Given the description of an element on the screen output the (x, y) to click on. 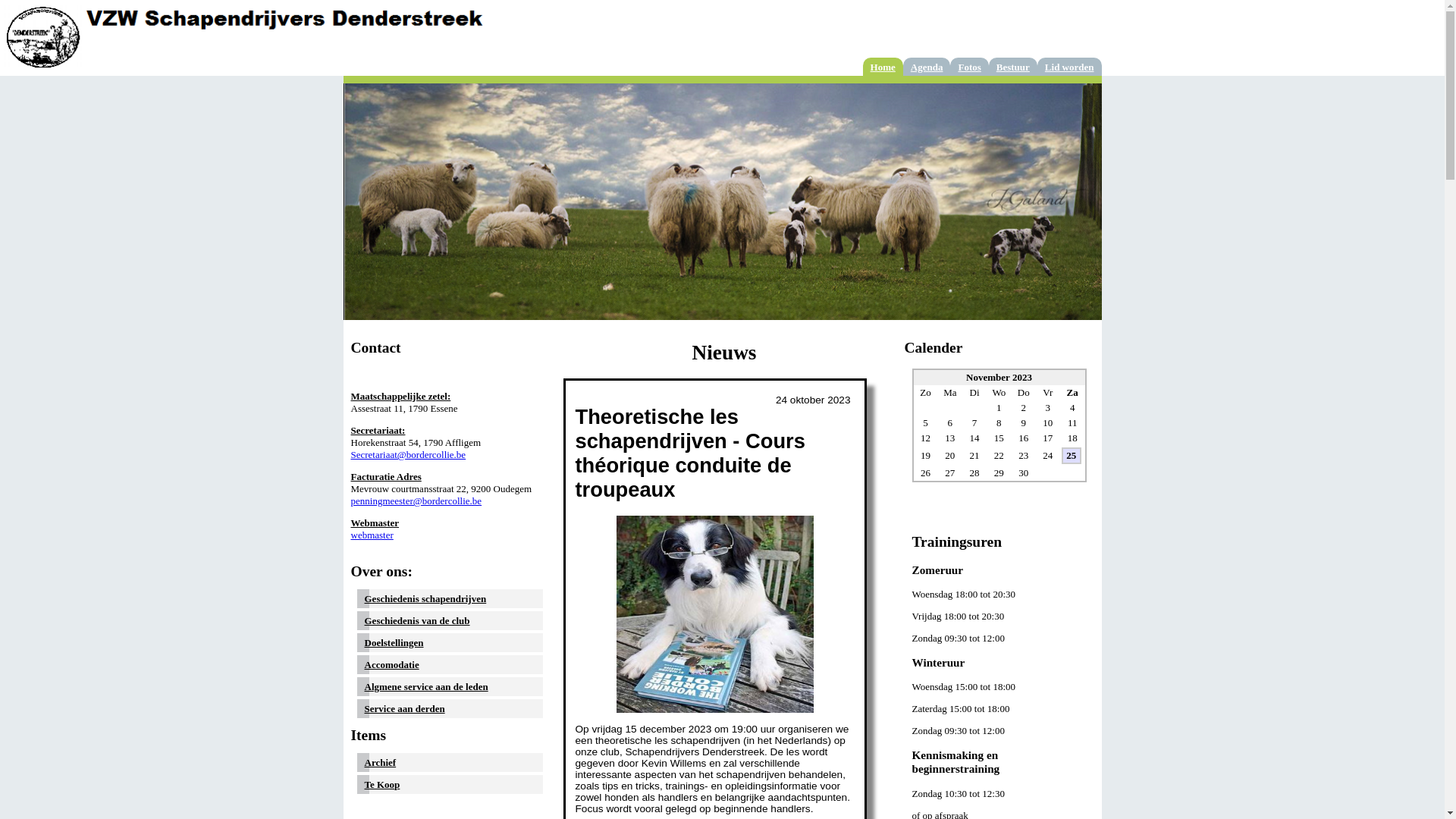
Geschiedenis van de club Element type: text (416, 620)
Bestuur Element type: text (1012, 66)
Te Koop Element type: text (381, 784)
Geschiedenis schapendrijven Element type: text (425, 598)
Agenda Element type: text (926, 66)
webmaster Element type: text (371, 534)
Secretariaat@bordercollie.be Element type: text (407, 454)
penningmeester@bordercollie.be Element type: text (415, 500)
Fotos Element type: text (968, 66)
Home Element type: text (882, 66)
Service aan derden Element type: text (404, 708)
Algmene service aan de leden Element type: text (425, 686)
Accomodatie Element type: text (391, 664)
Lid worden Element type: text (1069, 66)
Doelstellingen Element type: text (393, 642)
Archief Element type: text (379, 762)
